Given the description of an element on the screen output the (x, y) to click on. 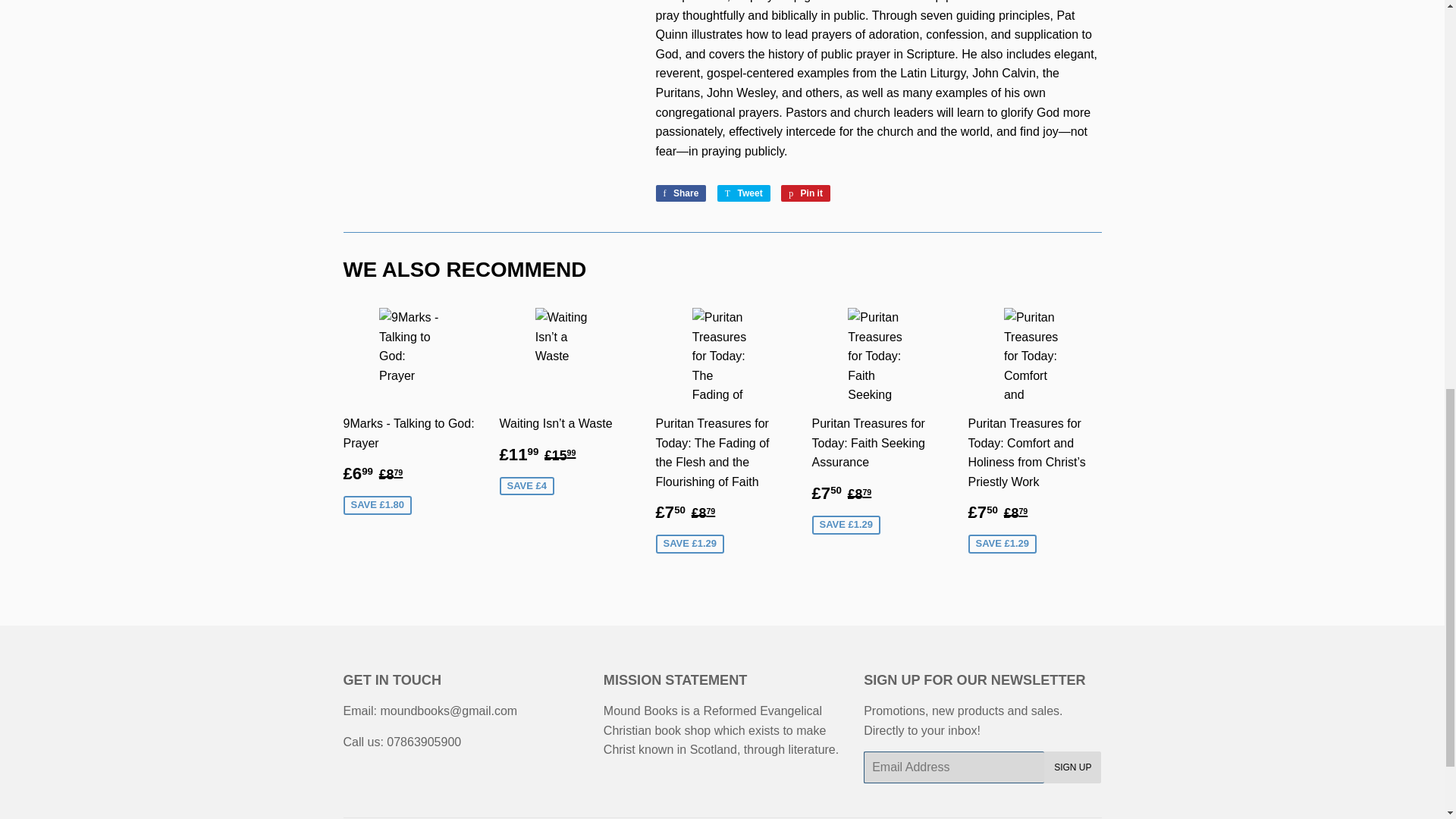
Pin on Pinterest (804, 193)
Tweet on Twitter (743, 193)
Share on Facebook (680, 193)
